Given the description of an element on the screen output the (x, y) to click on. 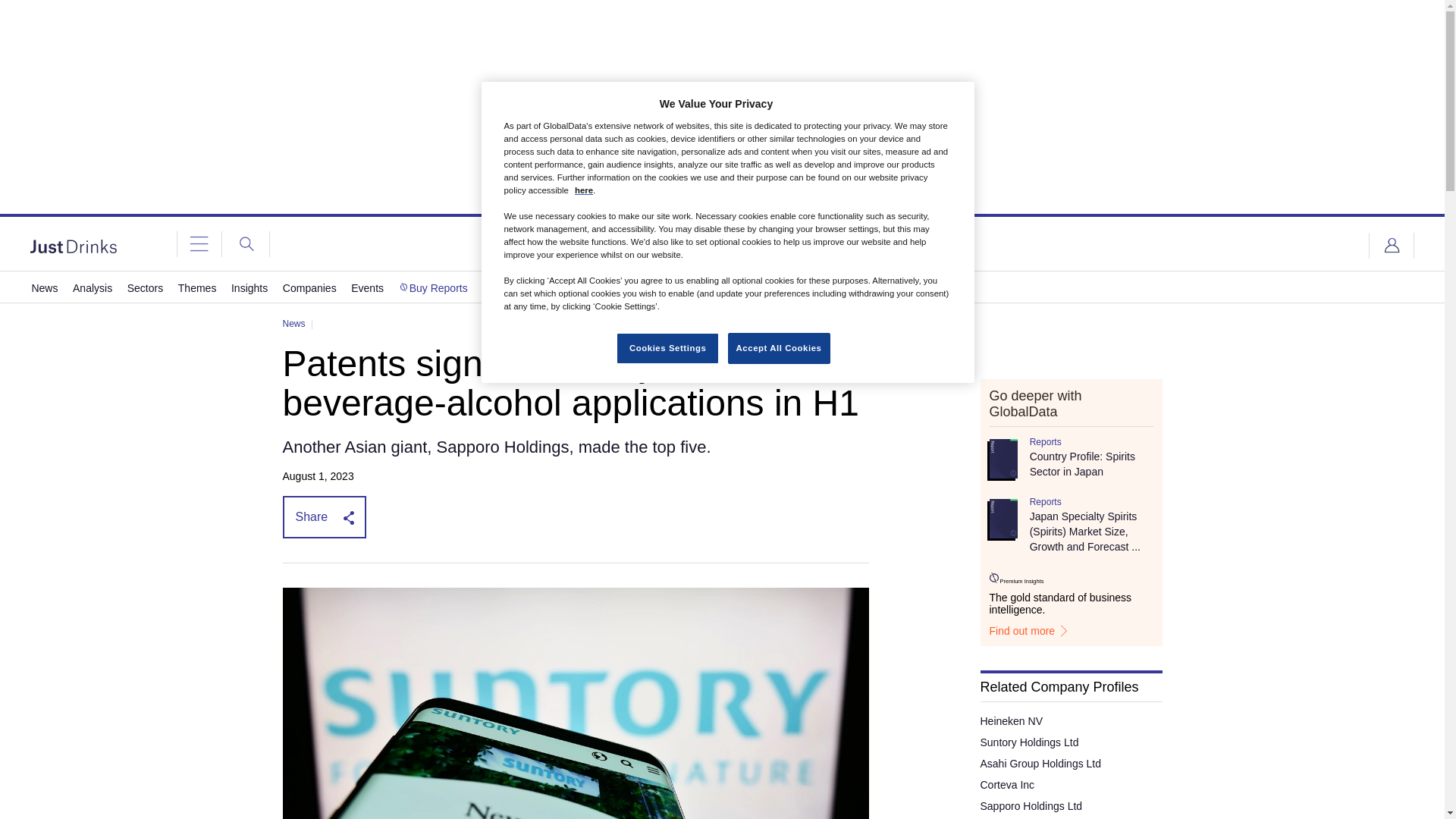
Login (1391, 245)
